Given the description of an element on the screen output the (x, y) to click on. 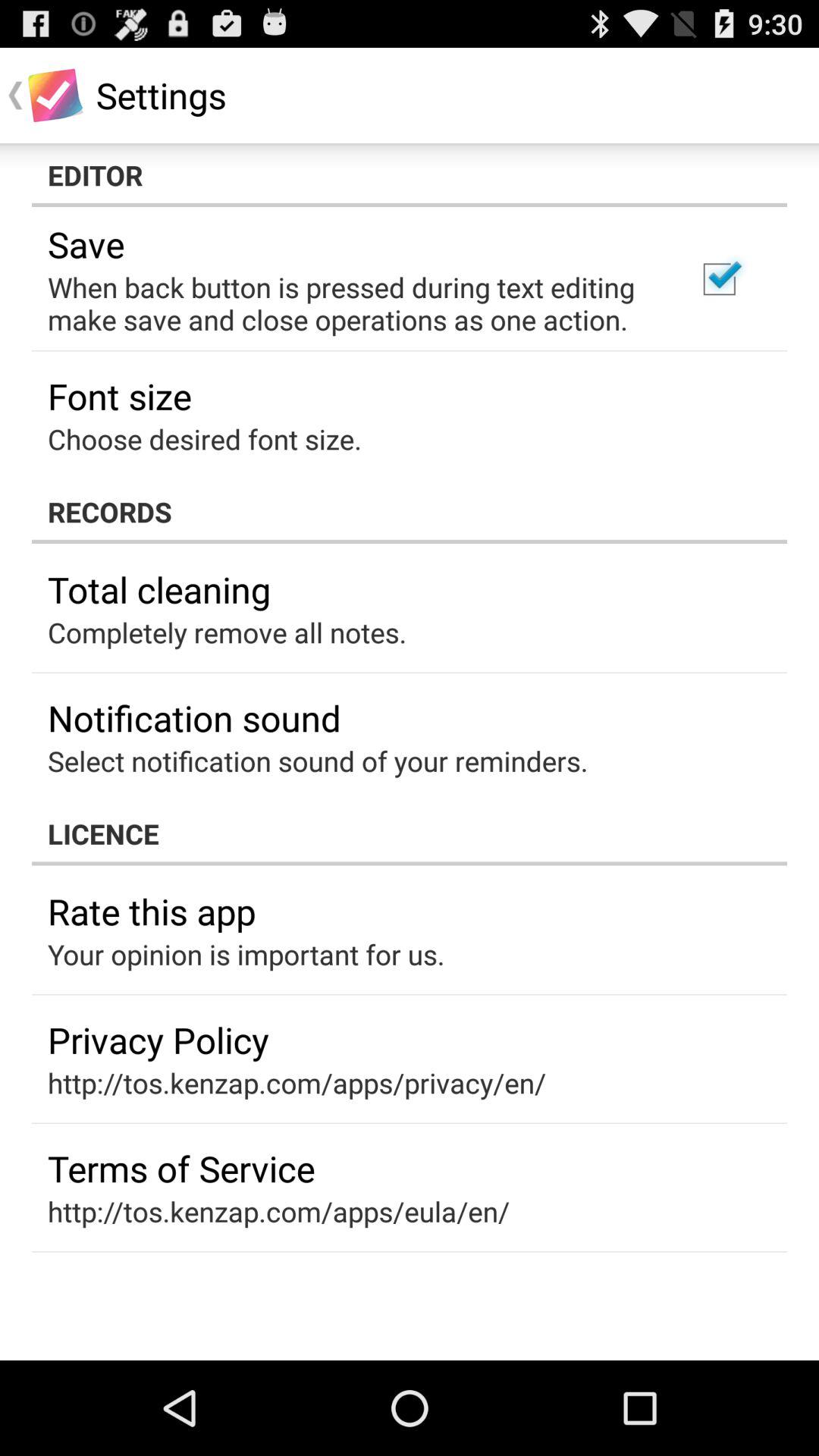
select the icon above save app (409, 175)
